Given the description of an element on the screen output the (x, y) to click on. 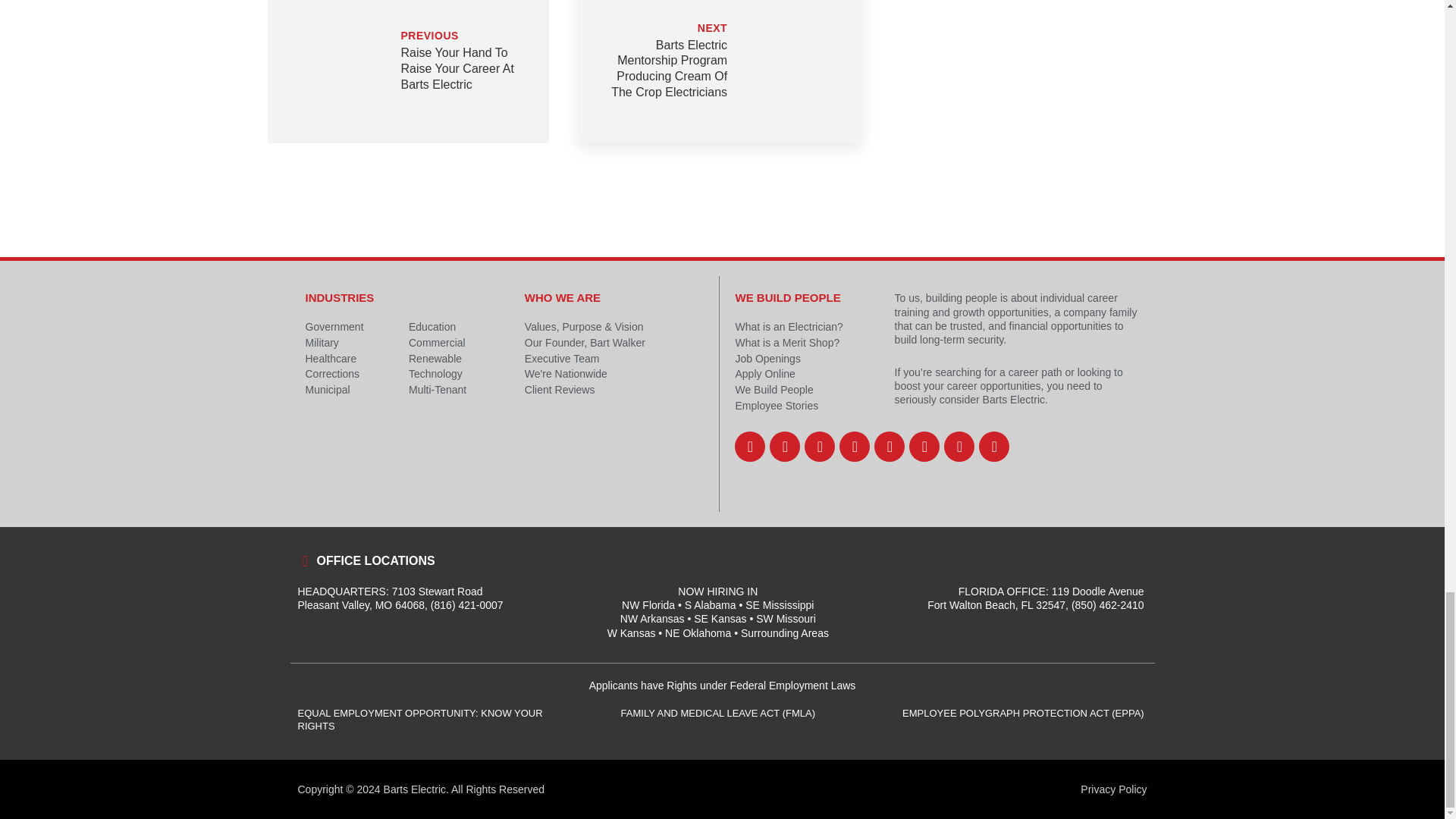
Logo (615, 468)
